Given the description of an element on the screen output the (x, y) to click on. 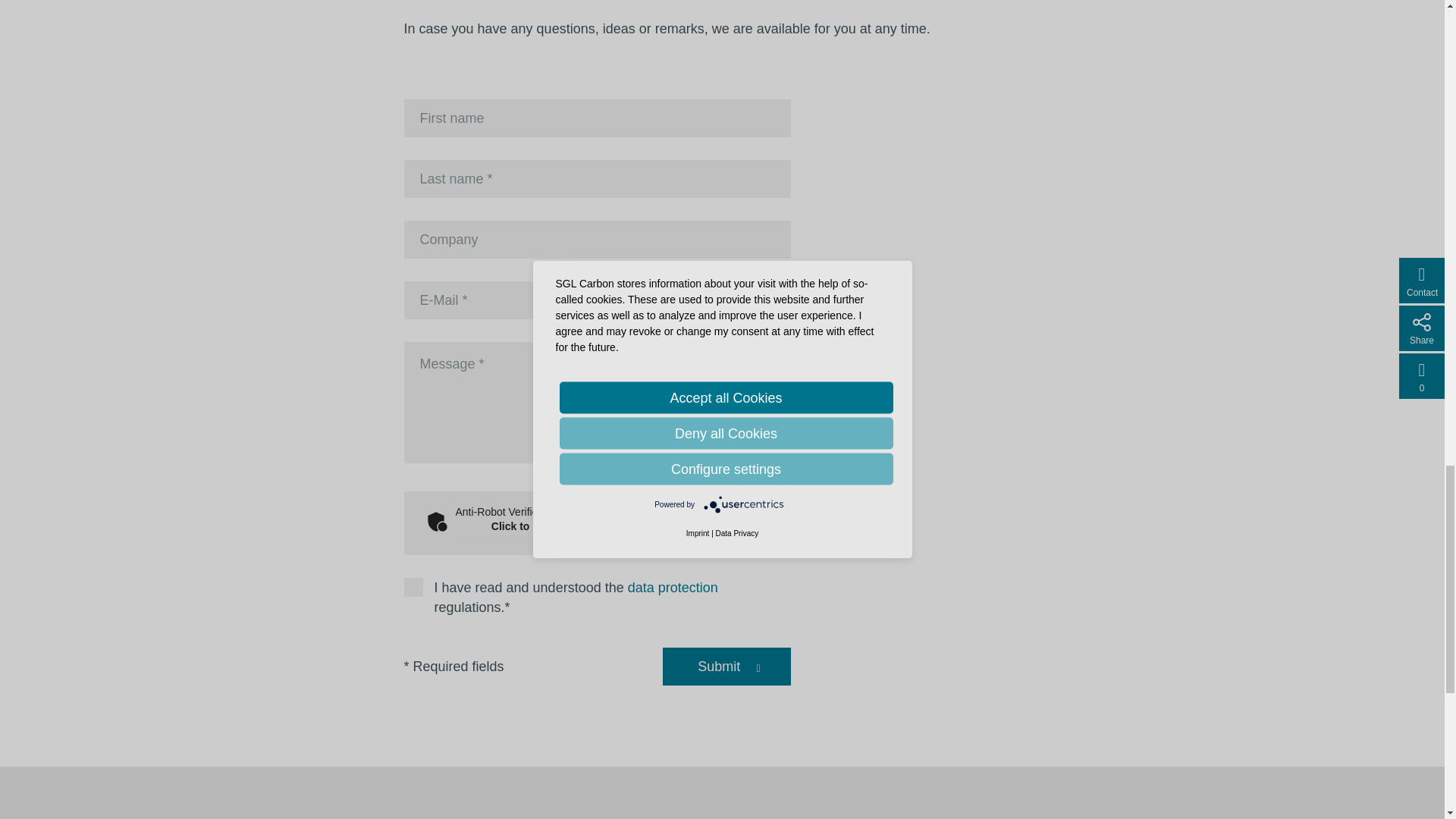
Submit (718, 666)
